Given the description of an element on the screen output the (x, y) to click on. 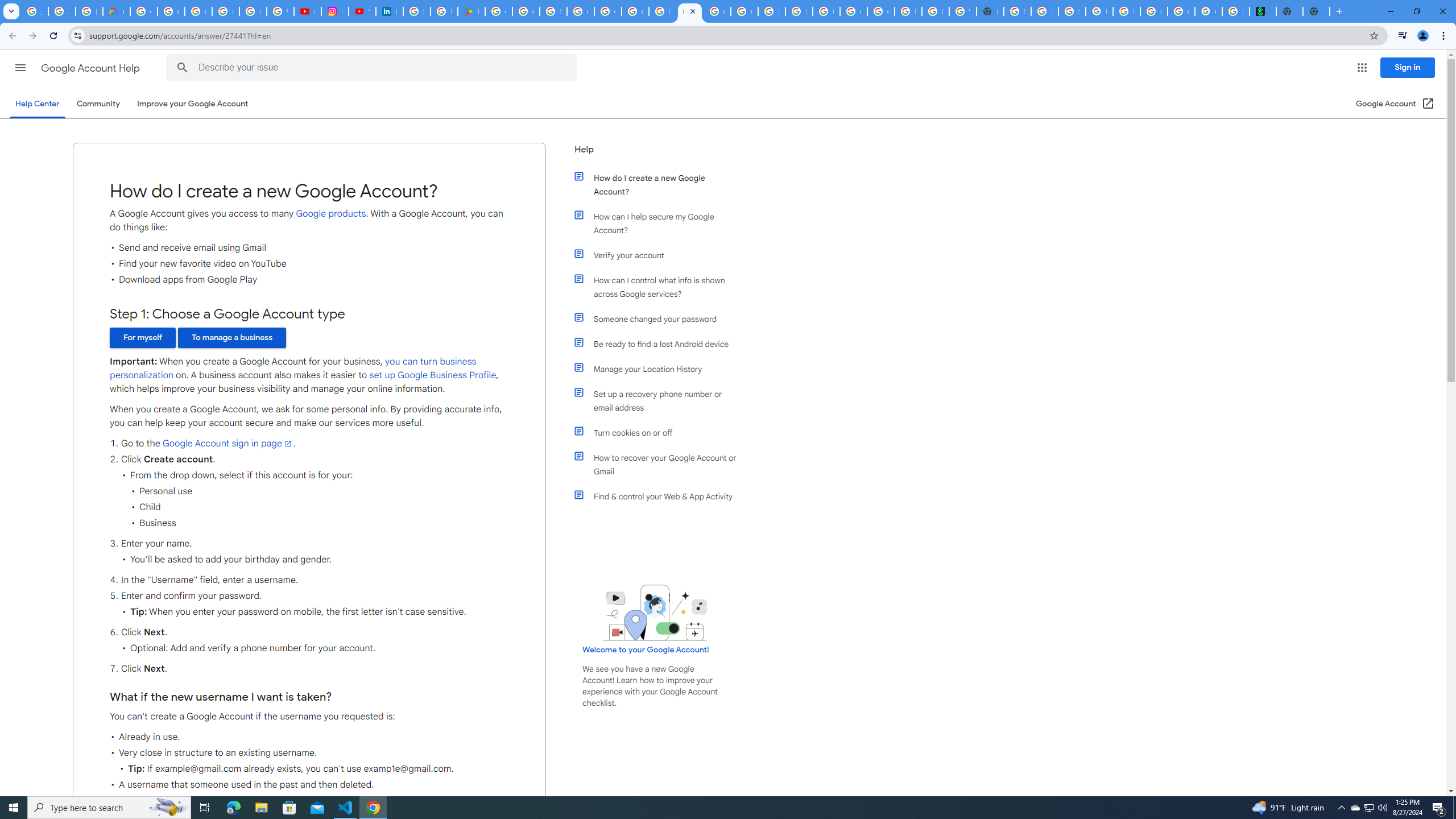
#nbabasketballhighlights - YouTube (307, 11)
Someone changed your password (661, 318)
Google products (330, 213)
Browse Chrome as a guest - Computer - Google Chrome Help (799, 11)
For myself (142, 337)
Turn cookies on or off (661, 432)
Community (97, 103)
Google Cloud Platform (853, 11)
Google Cloud Platform (580, 11)
To manage a business (231, 337)
